Given the description of an element on the screen output the (x, y) to click on. 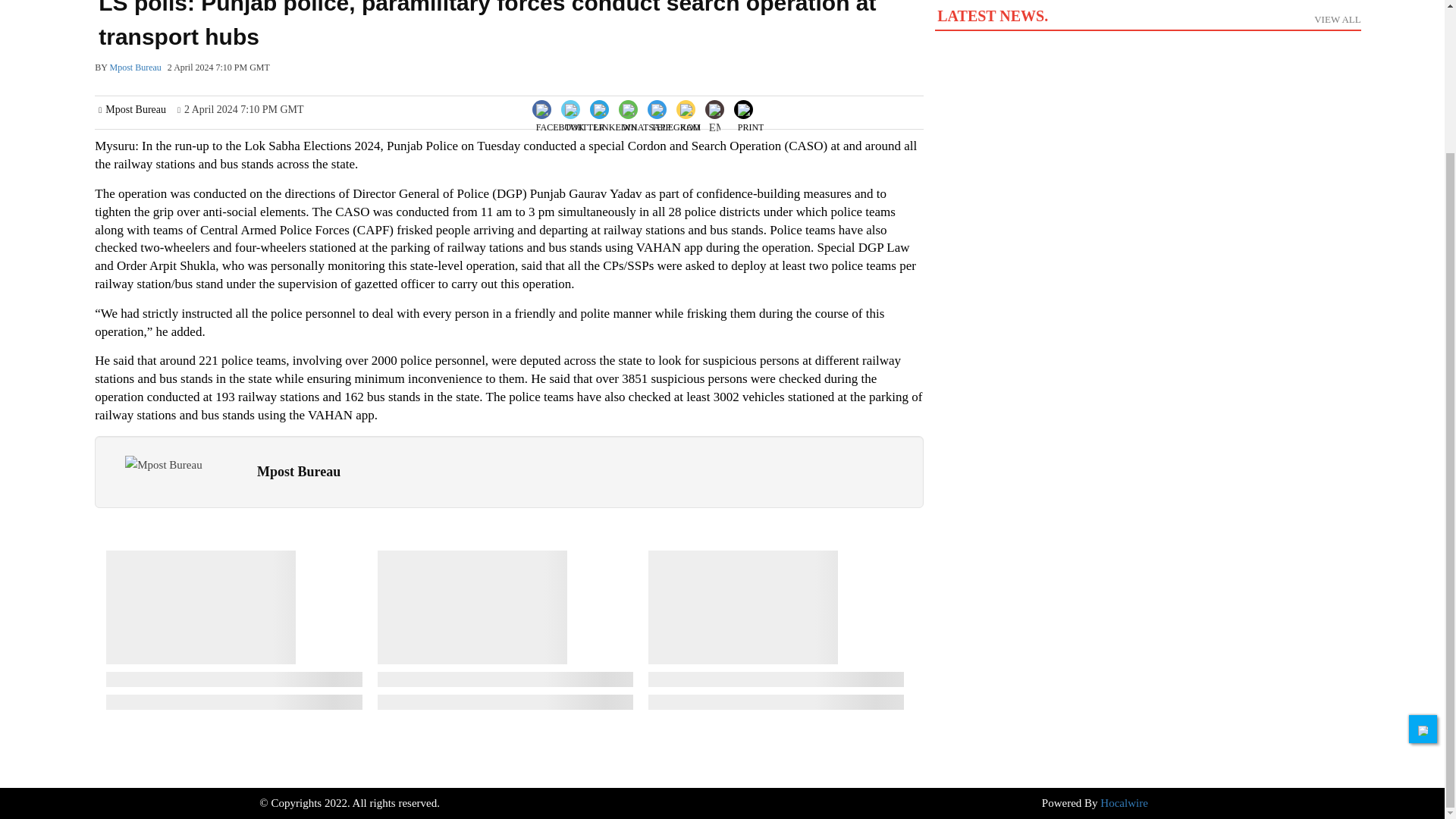
facebook (560, 121)
Share by Email (713, 111)
whatsapp (646, 121)
koo (689, 121)
Facebook (560, 107)
print (751, 121)
Mpost Bureau (1146, 27)
Twitter (163, 465)
Print (584, 107)
linkedin (750, 107)
Email (615, 121)
telegram (713, 120)
twitter (675, 121)
LinkedIn (584, 121)
